Given the description of an element on the screen output the (x, y) to click on. 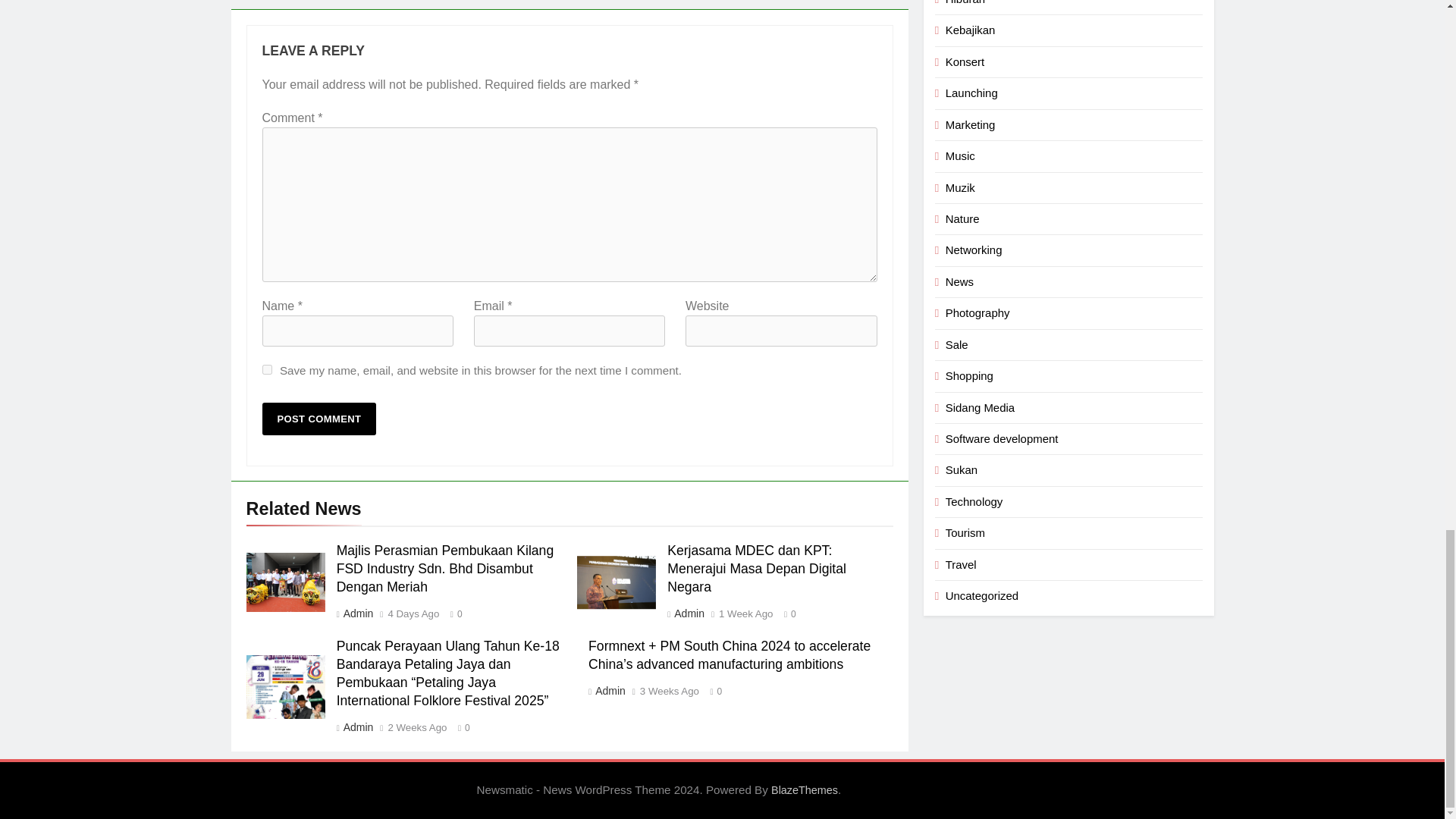
Post Comment (319, 418)
yes (267, 369)
